Given the description of an element on the screen output the (x, y) to click on. 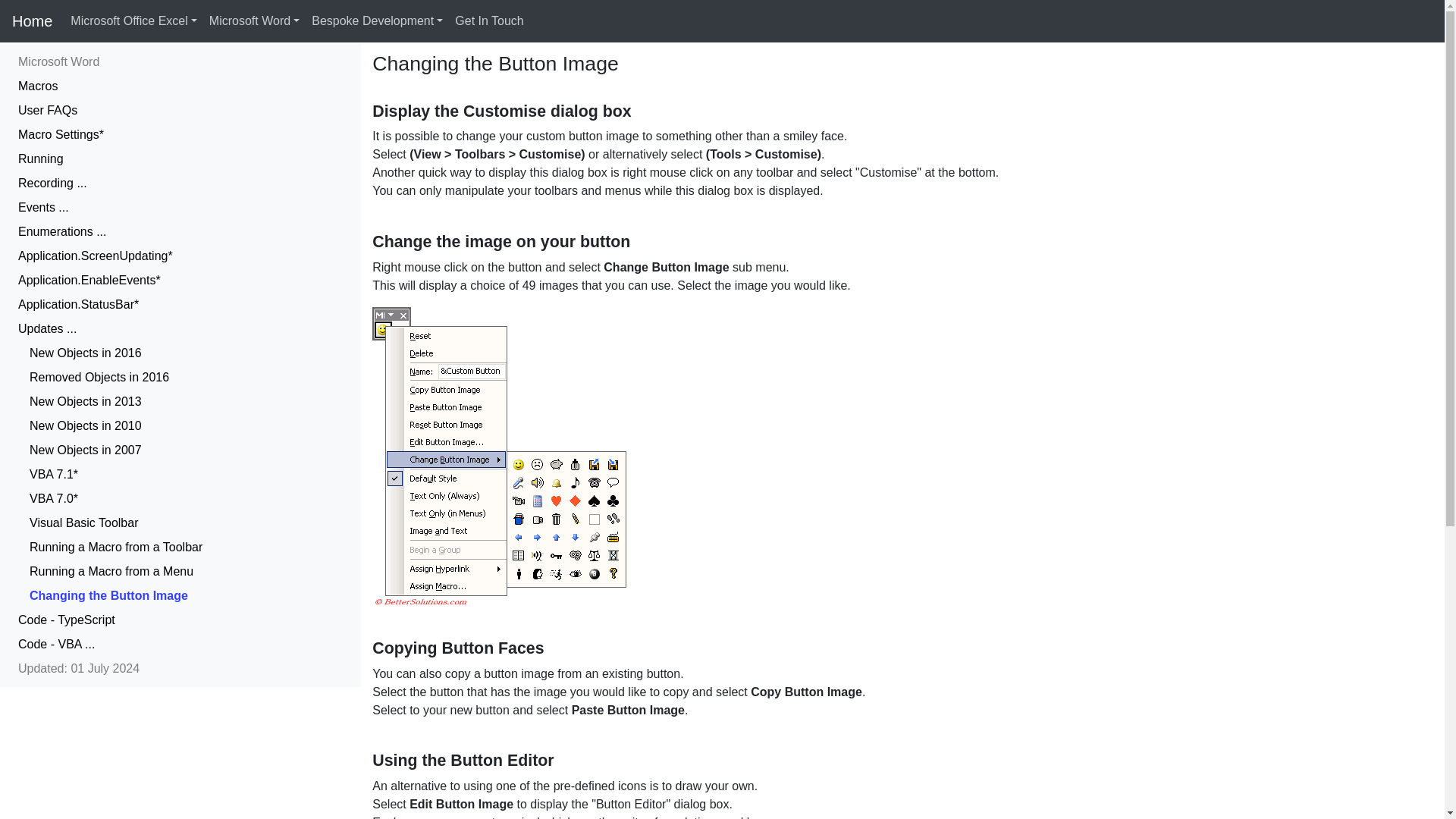
Microsoft Office Excel (133, 20)
Home (31, 20)
